Given the description of an element on the screen output the (x, y) to click on. 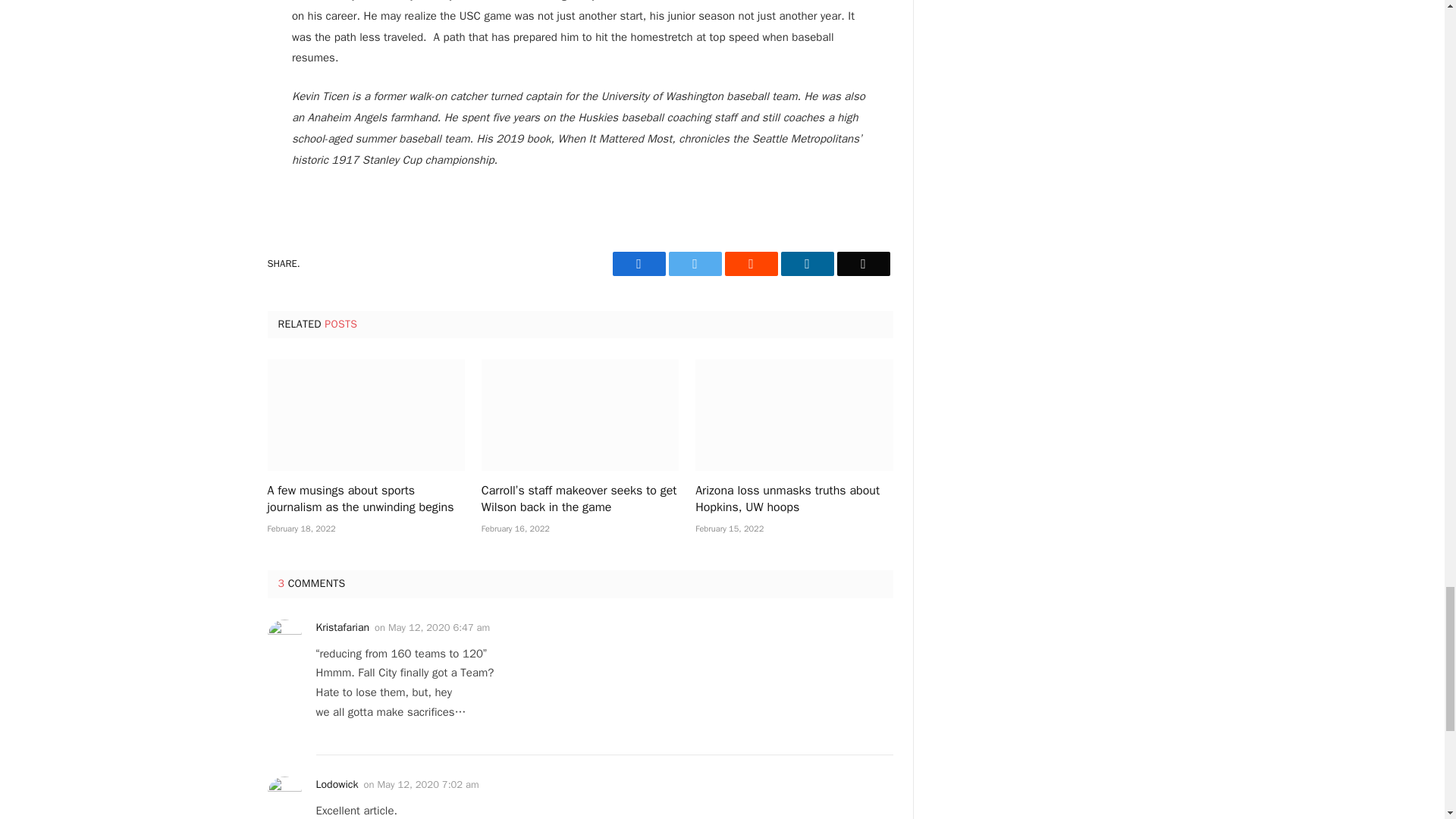
Reddit (751, 263)
Email (863, 263)
Facebook (638, 263)
Twitter (695, 263)
LinkedIn (807, 263)
